Given the description of an element on the screen output the (x, y) to click on. 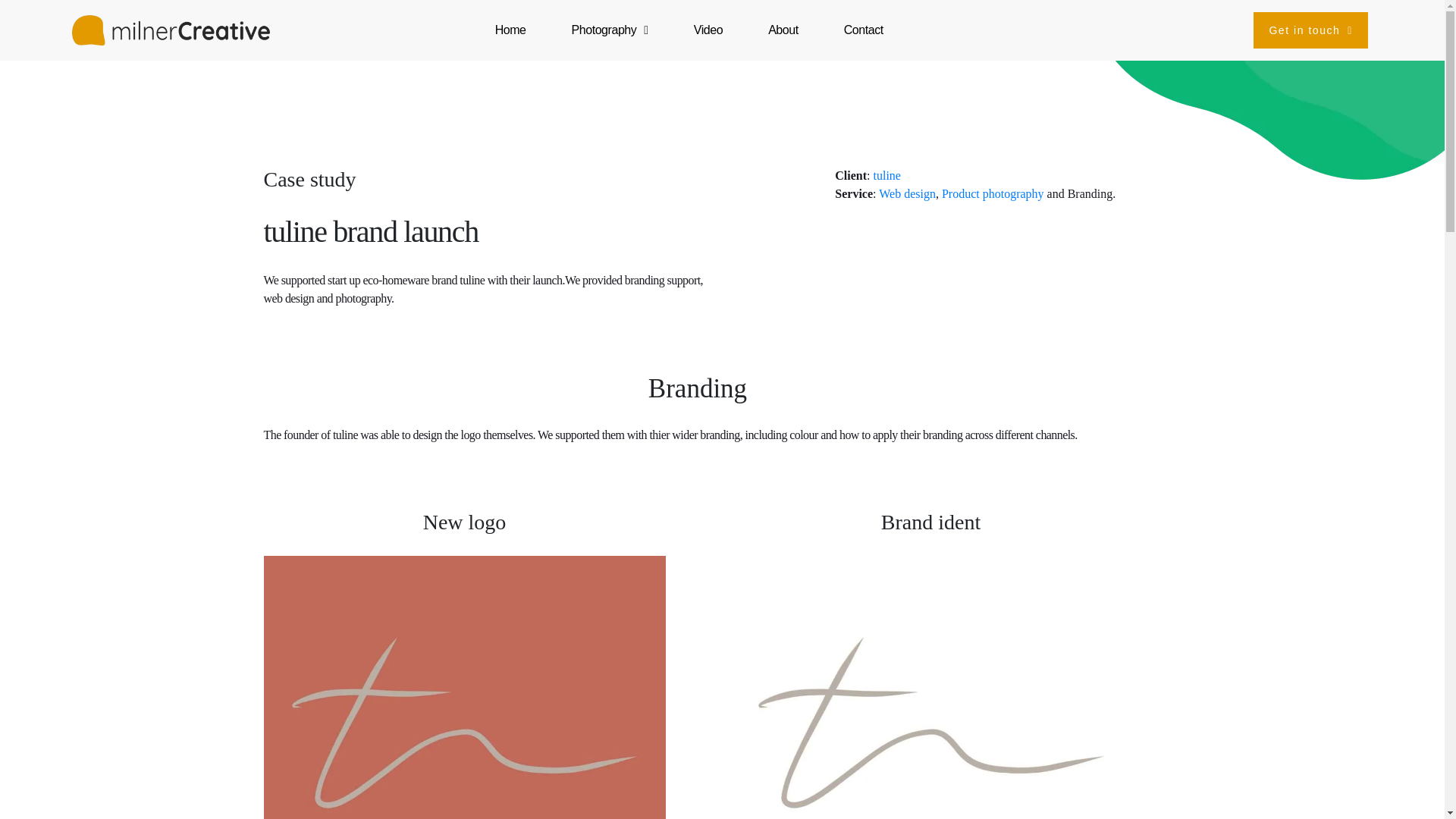
Contact (863, 30)
Video (707, 30)
About (783, 30)
Home (510, 30)
Get in touch (1310, 30)
Product photography (992, 193)
tuline (887, 174)
Photography (610, 30)
Web design (907, 193)
